Given the description of an element on the screen output the (x, y) to click on. 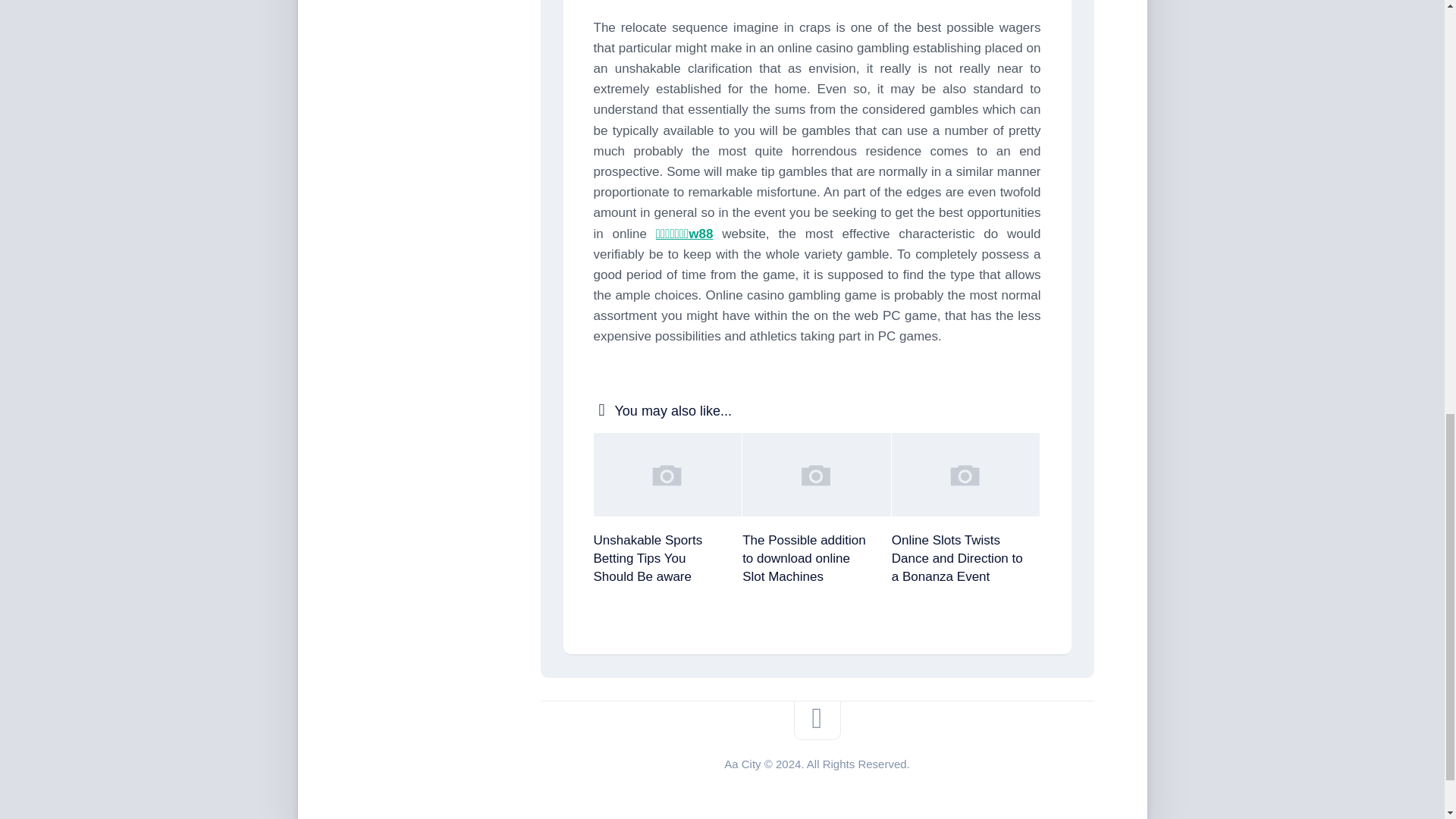
Unshakable Sports Betting Tips You Should Be aware (646, 558)
Online Slots Twists Dance and Direction to a Bonanza Event (957, 558)
The Possible addition to download online Slot Machines (804, 558)
